Given the description of an element on the screen output the (x, y) to click on. 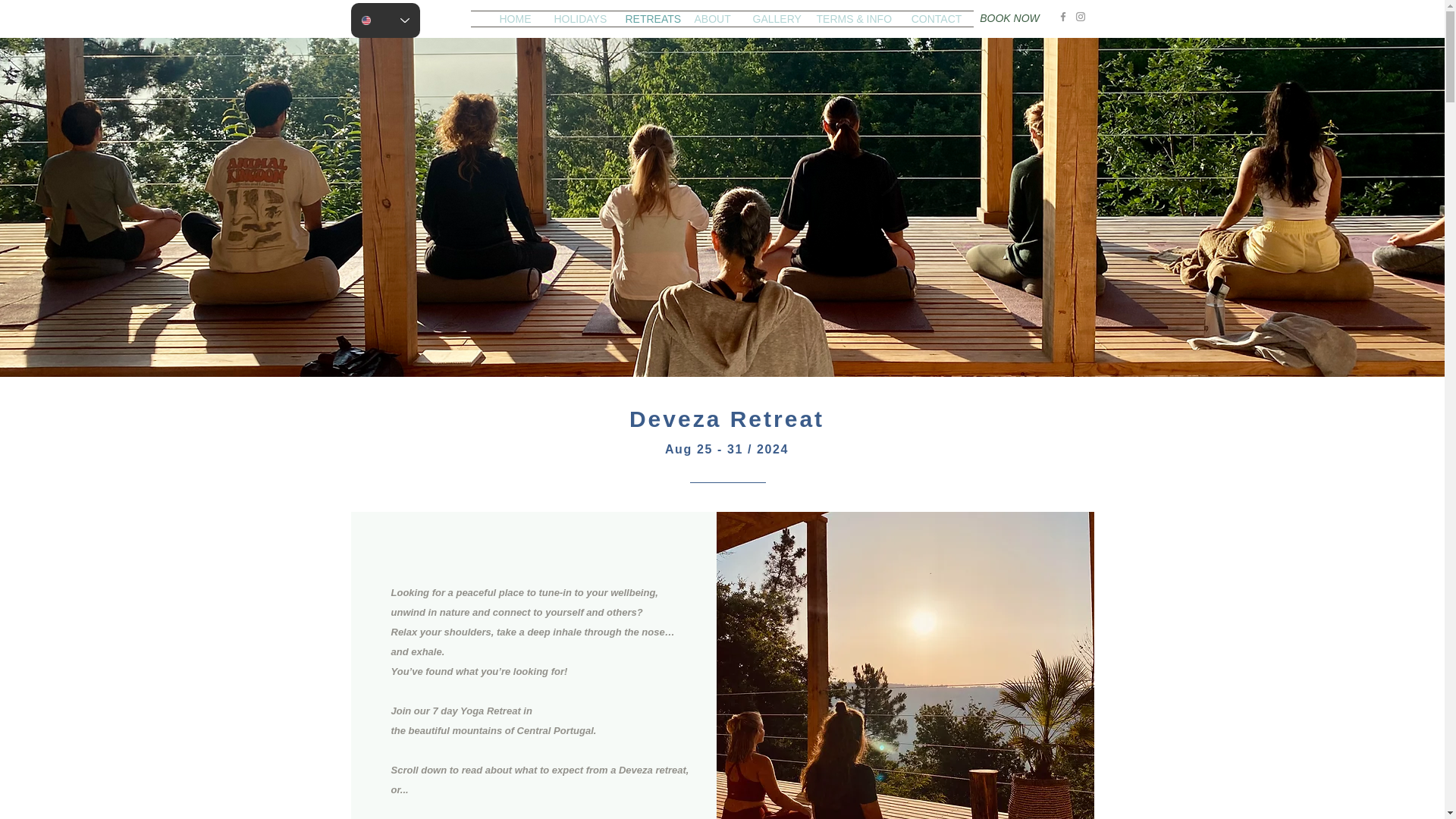
RETREATS (648, 18)
ABOUT (711, 18)
HOME (515, 18)
CONTACT (935, 18)
BOOK NOW (1010, 18)
HOLIDAYS (578, 18)
GALLERY (773, 18)
